Given the description of an element on the screen output the (x, y) to click on. 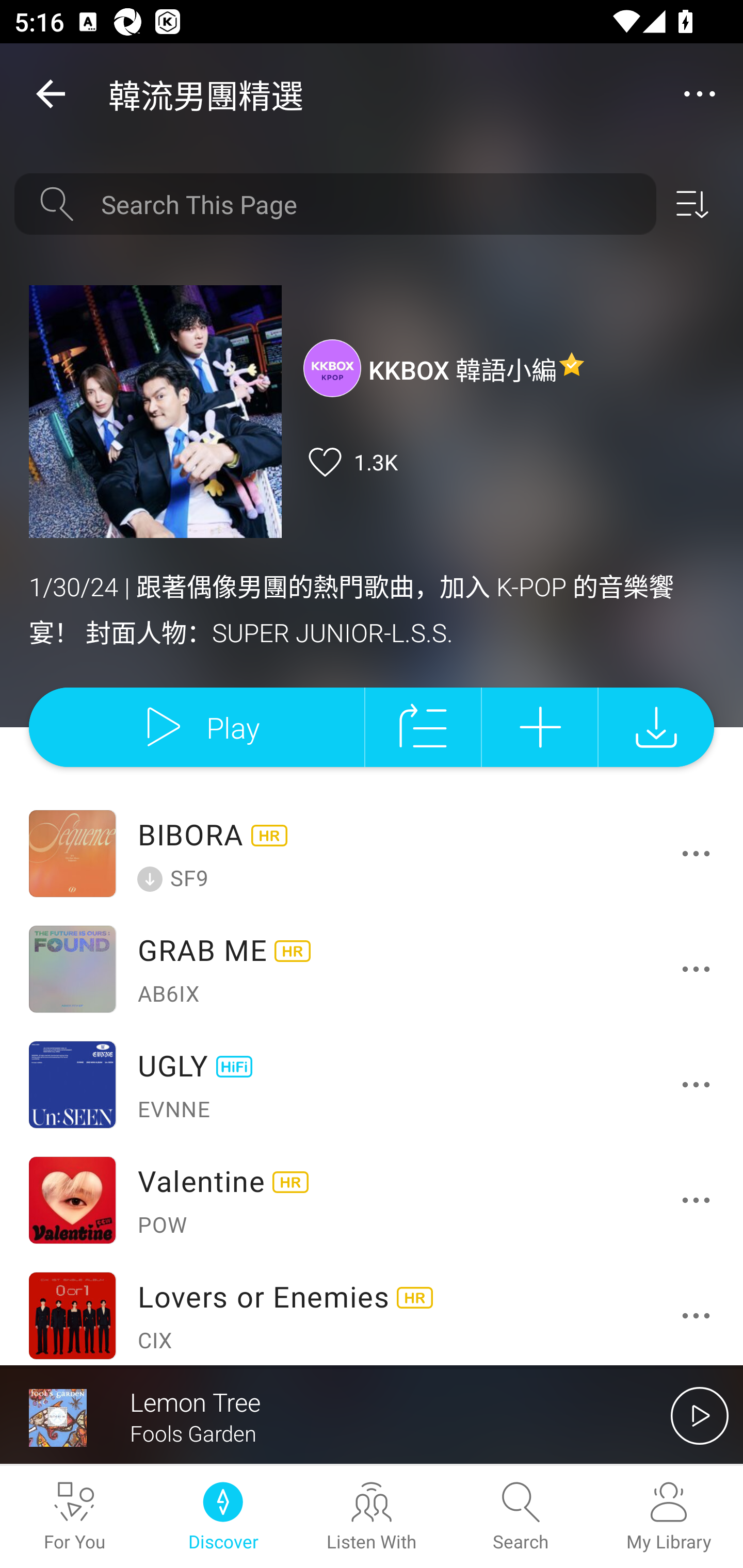
overflow (699, 93)
Search This Page (371, 204)
KKBOX 韓語小編 text_curator_name (444, 367)
1.3K button_collection (350, 462)
Play (196, 726)
add to queue (422, 726)
加入至歌單 (539, 726)
下載歌曲至手機 (656, 726)
BIBORA 已下載 SF9 更多操作選項 (371, 853)
更多操作選項 (699, 853)
GRAB ME AB6IX 更多操作選項 (371, 969)
更多操作選項 (699, 968)
UGLY EVNNE 更多操作選項 (371, 1085)
更多操作選項 (699, 1084)
Valentine POW 更多操作選項 (371, 1200)
更多操作選項 (699, 1200)
Lovers or Enemies CIX 更多操作選項 (371, 1311)
更多操作選項 (699, 1315)
開始播放 (699, 1415)
For You (74, 1517)
Discover (222, 1517)
Listen With (371, 1517)
Search (519, 1517)
My Library (668, 1517)
